Given the description of an element on the screen output the (x, y) to click on. 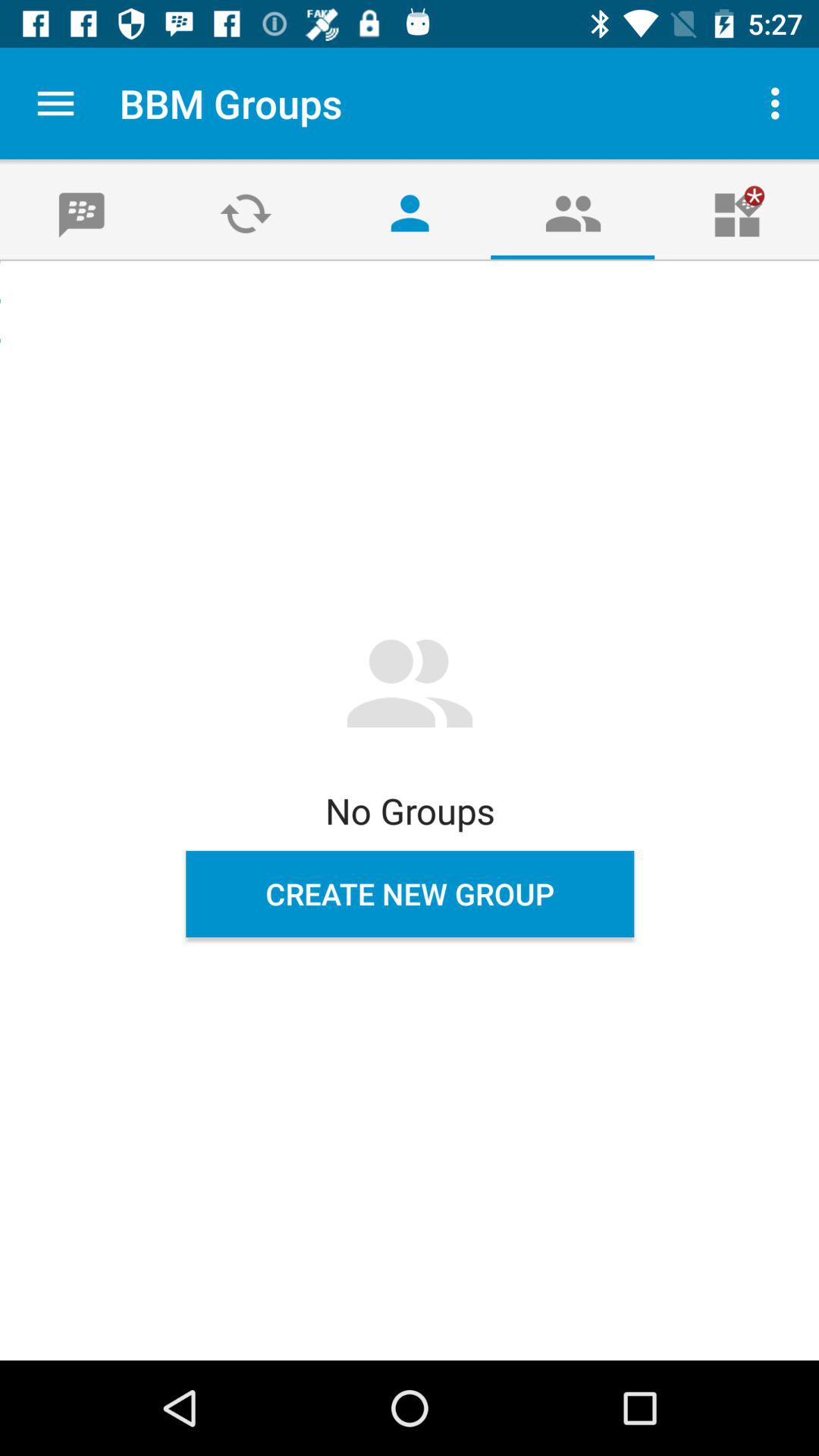
choose the icon to the left of the bbm groups icon (55, 103)
